Given the description of an element on the screen output the (x, y) to click on. 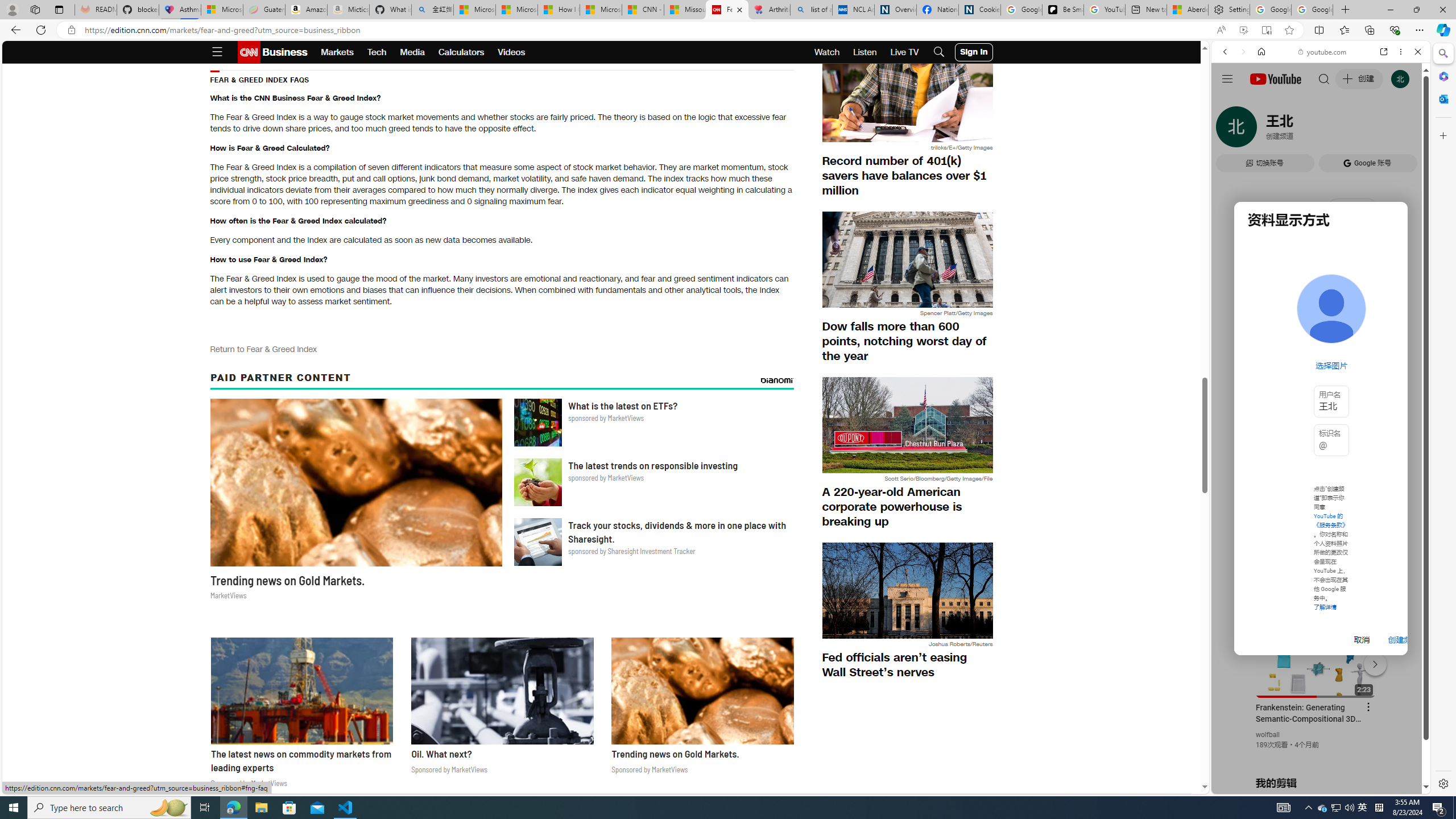
Google (1320, 281)
More options (1401, 51)
Show More Music (1390, 310)
Search videos from youtube.com (1299, 373)
New tab (1146, 9)
Class: b_serphb (1404, 130)
Music (1320, 309)
US[ju] (1249, 785)
#you (1315, 659)
Open Menu Icon (216, 52)
